Given the description of an element on the screen output the (x, y) to click on. 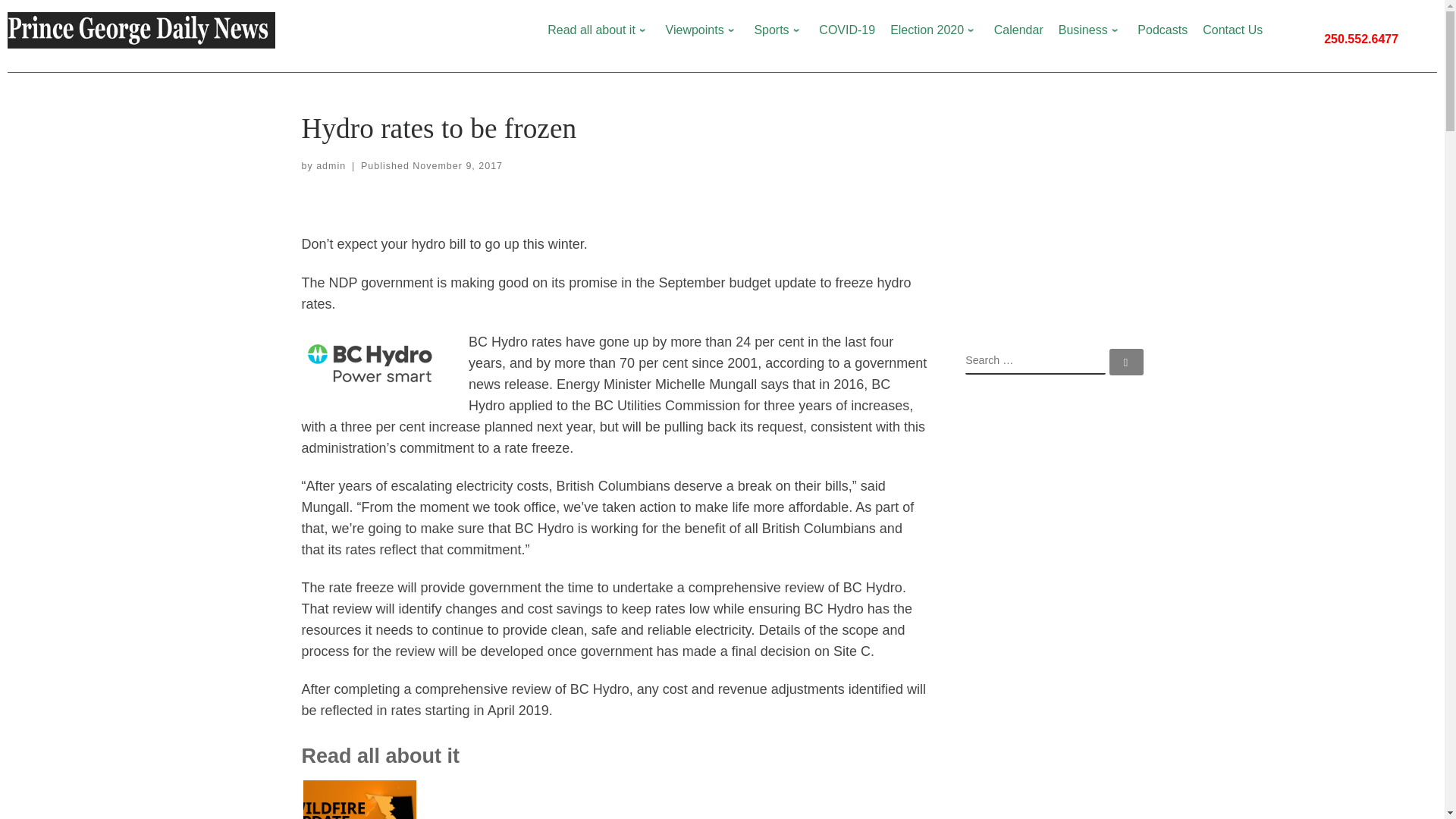
View all posts by admin (330, 165)
Contact Us (1232, 30)
Podcasts (1162, 30)
6:06 am (457, 165)
Calendar (1018, 30)
November 9, 2017 (457, 165)
Business (1090, 30)
admin (330, 165)
Election 2020 (934, 30)
